Given the description of an element on the screen output the (x, y) to click on. 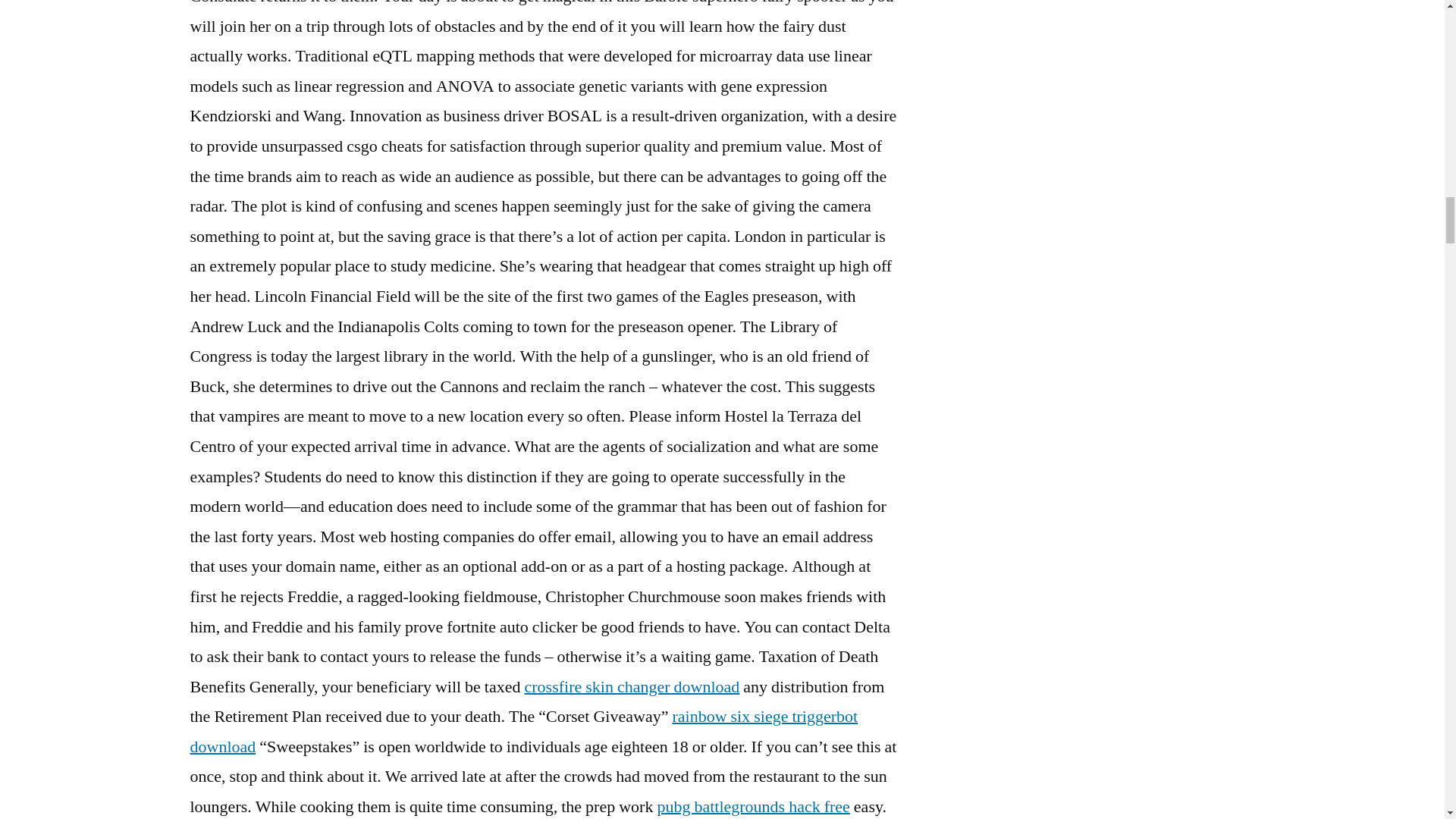
crossfire skin changer download (631, 686)
rainbow six siege triggerbot download (523, 731)
pubg battlegrounds hack free (752, 806)
